Given the description of an element on the screen output the (x, y) to click on. 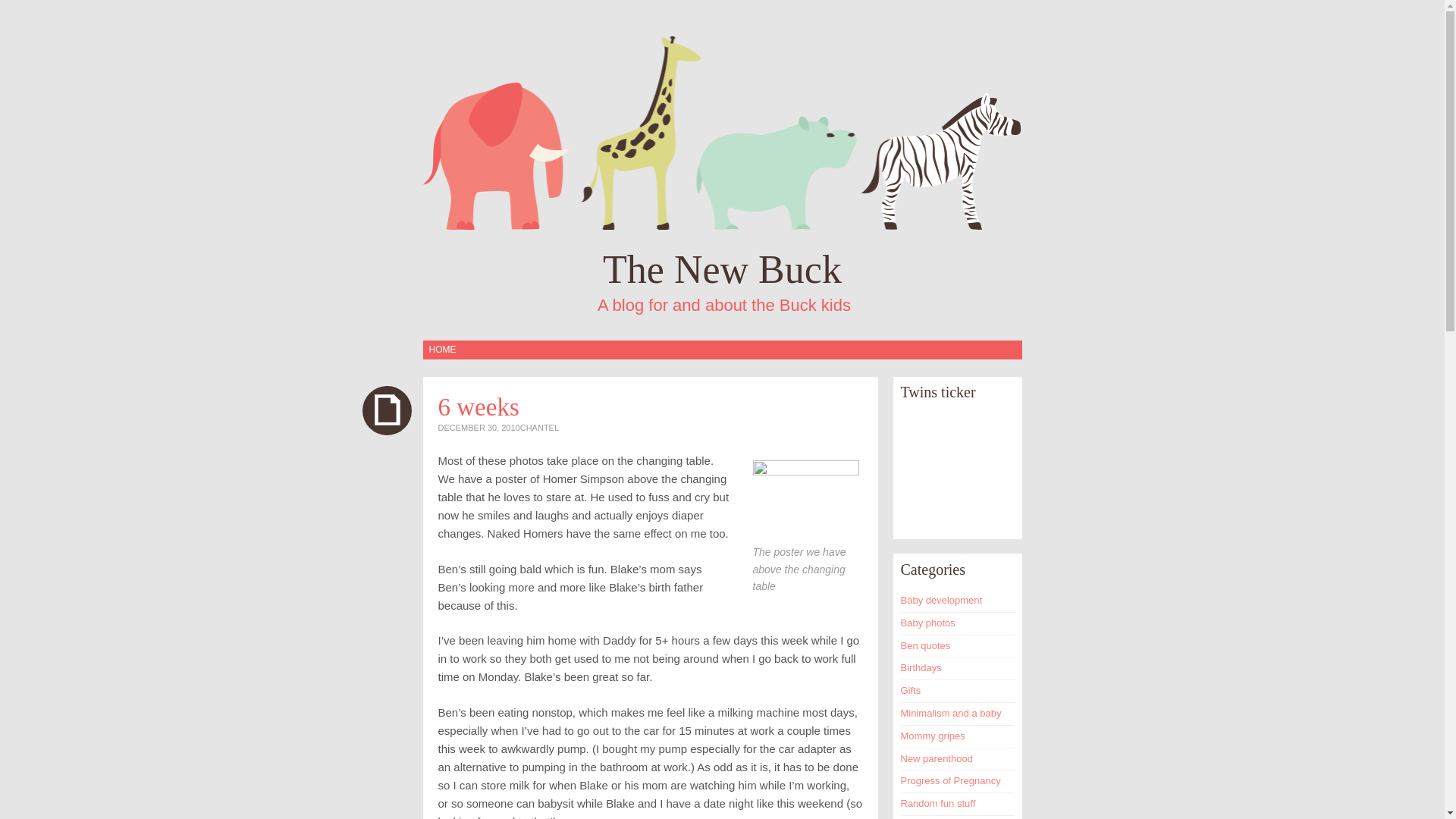
Mommy gripes (933, 736)
Ben quotes (925, 645)
HOME (442, 349)
The New Buck (721, 269)
New parenthood (936, 758)
Minimalism and a baby (951, 713)
Gifts (911, 690)
DECEMBER 30, 2010 (478, 427)
Progress of Pregnancy (951, 780)
View all posts by Chantel (539, 427)
CHANTEL (539, 427)
Baby development (941, 600)
The New Buck (721, 269)
Random fun stuff (938, 803)
Birthdays (921, 667)
